Given the description of an element on the screen output the (x, y) to click on. 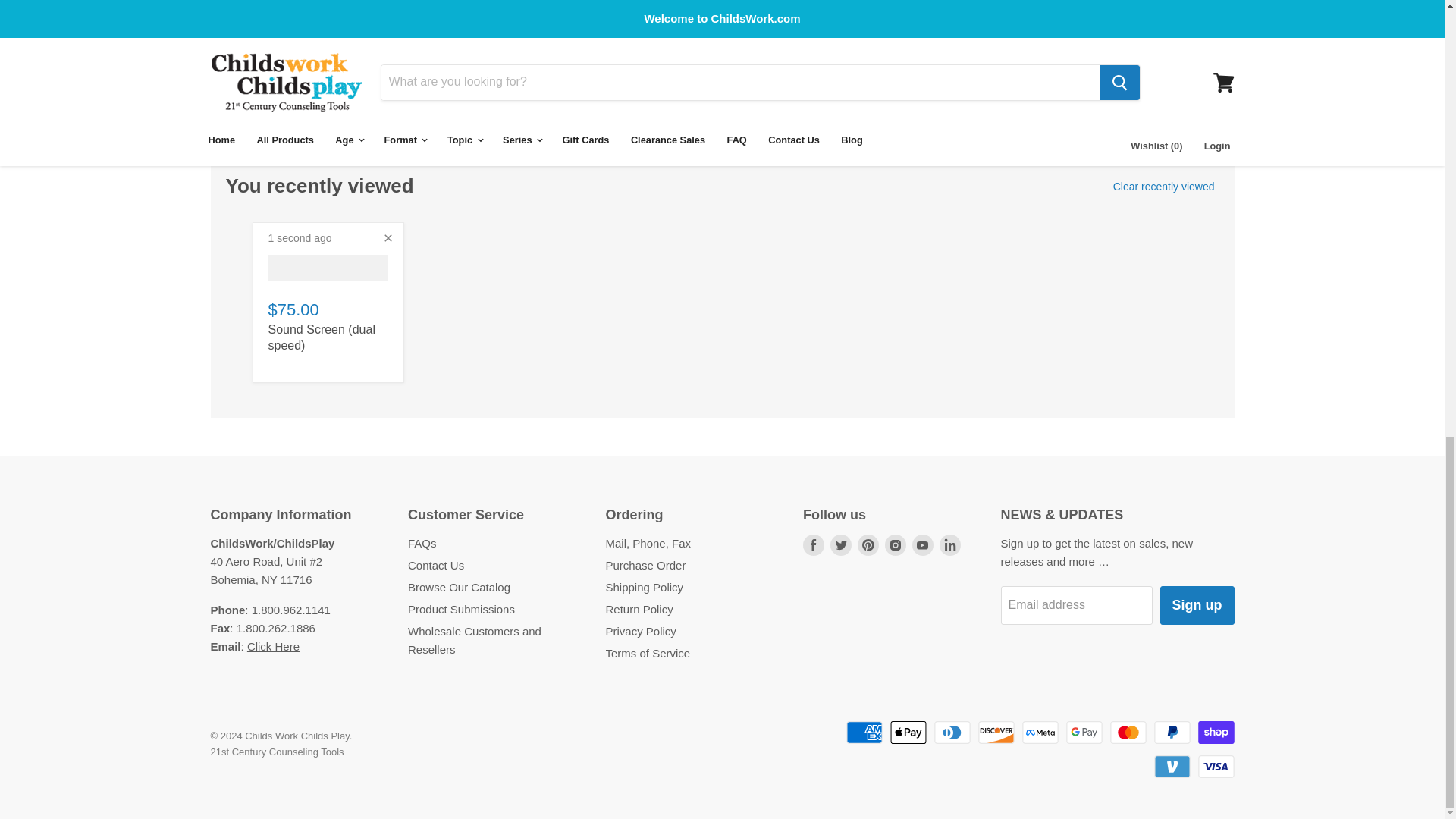
Instagram (895, 544)
LinkedIn (949, 544)
Youtube (922, 544)
Twitter (840, 544)
American Express (863, 732)
Pinterest (868, 544)
Facebook (813, 544)
Contact Us (273, 645)
